Given the description of an element on the screen output the (x, y) to click on. 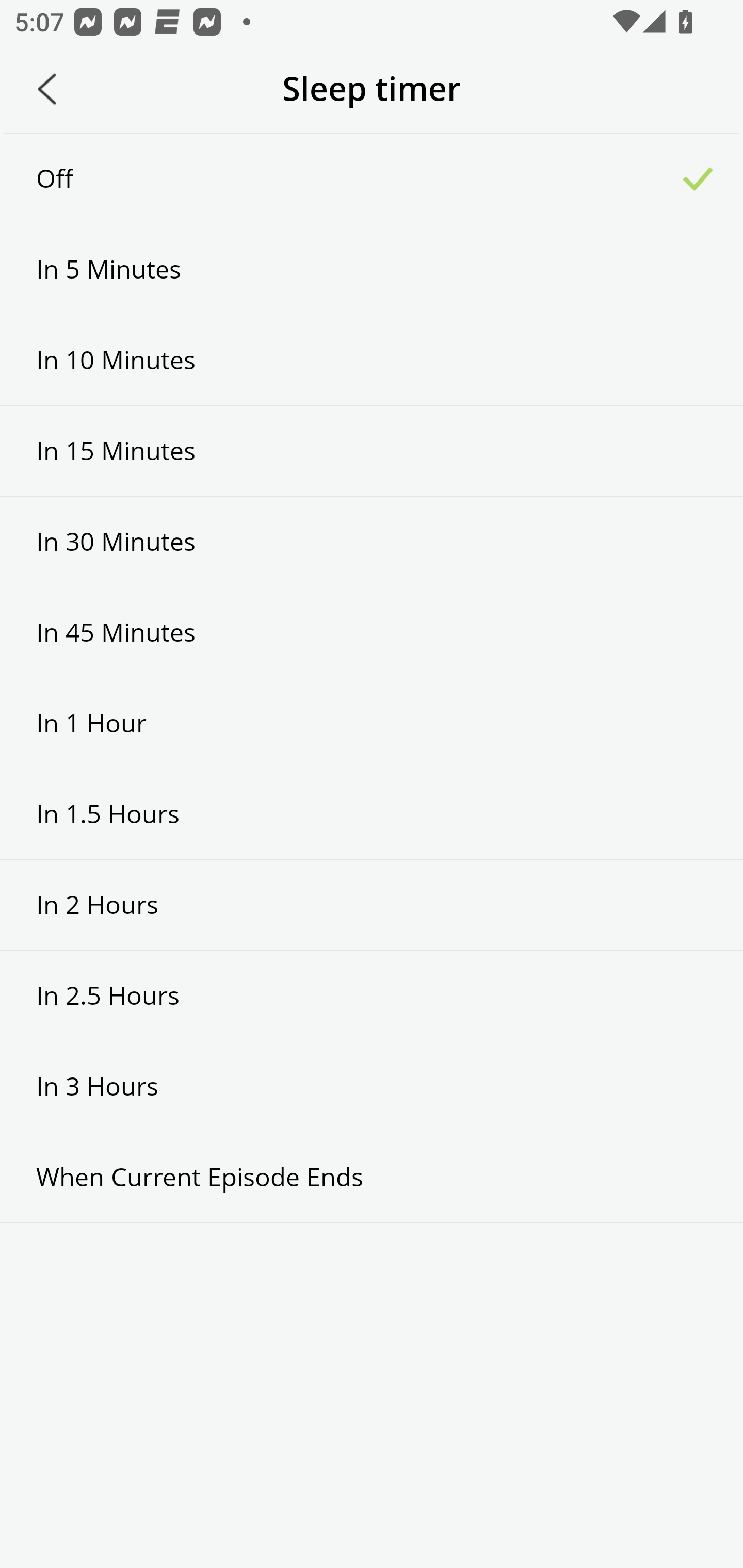
Back (46, 88)
Off (371, 178)
In 5 Minutes (371, 269)
In 10 Minutes (371, 360)
In 15 Minutes (371, 450)
In 30 Minutes (371, 541)
In 45 Minutes (371, 632)
In 1 Hour (371, 723)
In 1.5 Hours (371, 813)
In 2 Hours (371, 904)
In 2.5 Hours (371, 995)
In 3 Hours (371, 1086)
When Current Episode Ends (371, 1177)
